Given the description of an element on the screen output the (x, y) to click on. 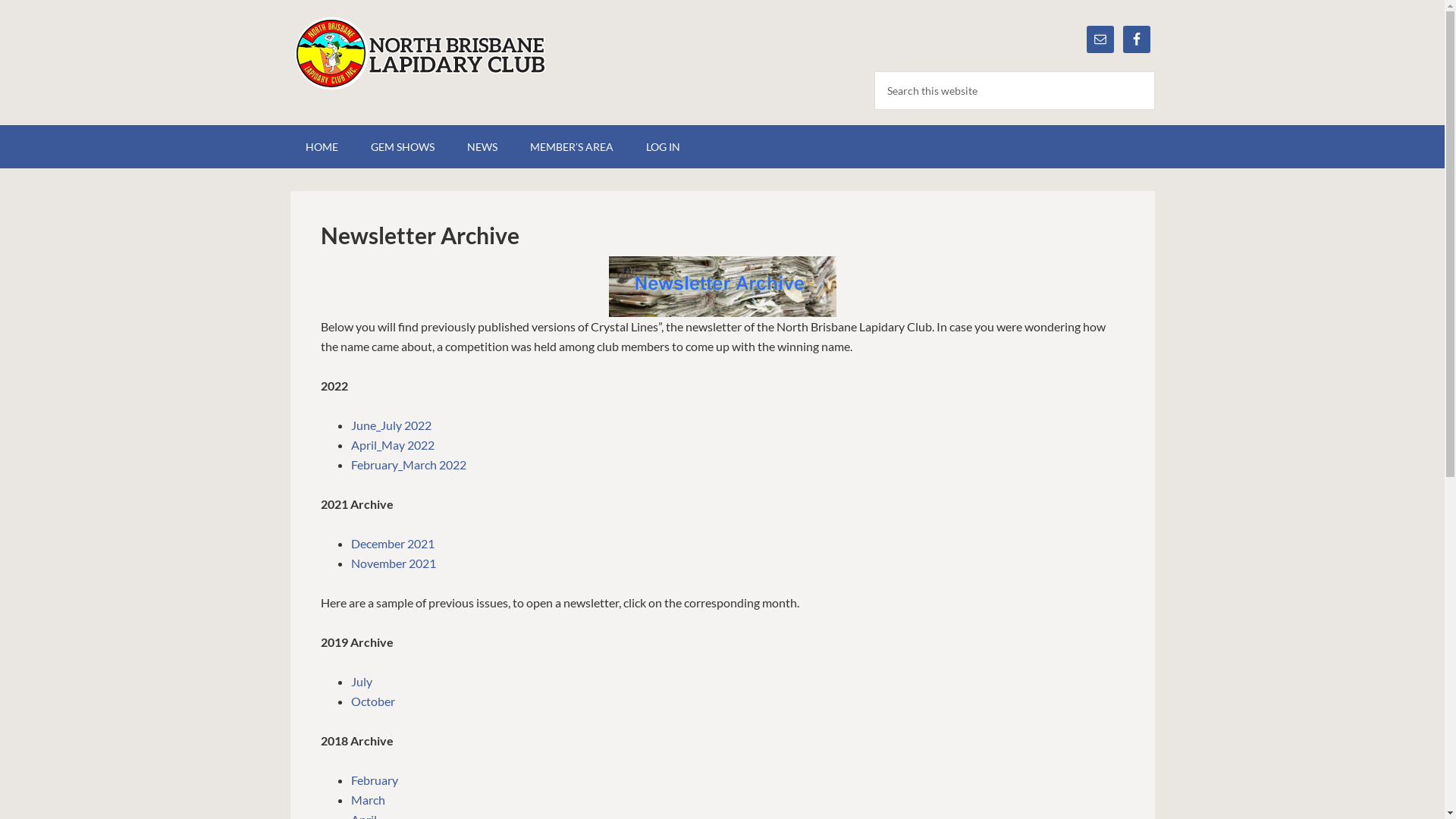
July Element type: text (360, 681)
February_March 2022 Element type: text (407, 464)
NEWS Element type: text (481, 146)
GEM SHOWS Element type: text (401, 146)
LOG IN Element type: text (662, 146)
October Element type: text (372, 700)
February Element type: text (373, 779)
November 2021 Element type: text (392, 562)
NORTH BRISBANE LAPIDARY CLUB Element type: text (418, 53)
December 2021 Element type: text (391, 543)
Search Element type: text (1154, 70)
March Element type: text (367, 799)
June_July 2022 Element type: text (390, 424)
April_May 2022 Element type: text (391, 444)
HOME Element type: text (320, 146)
